Given the description of an element on the screen output the (x, y) to click on. 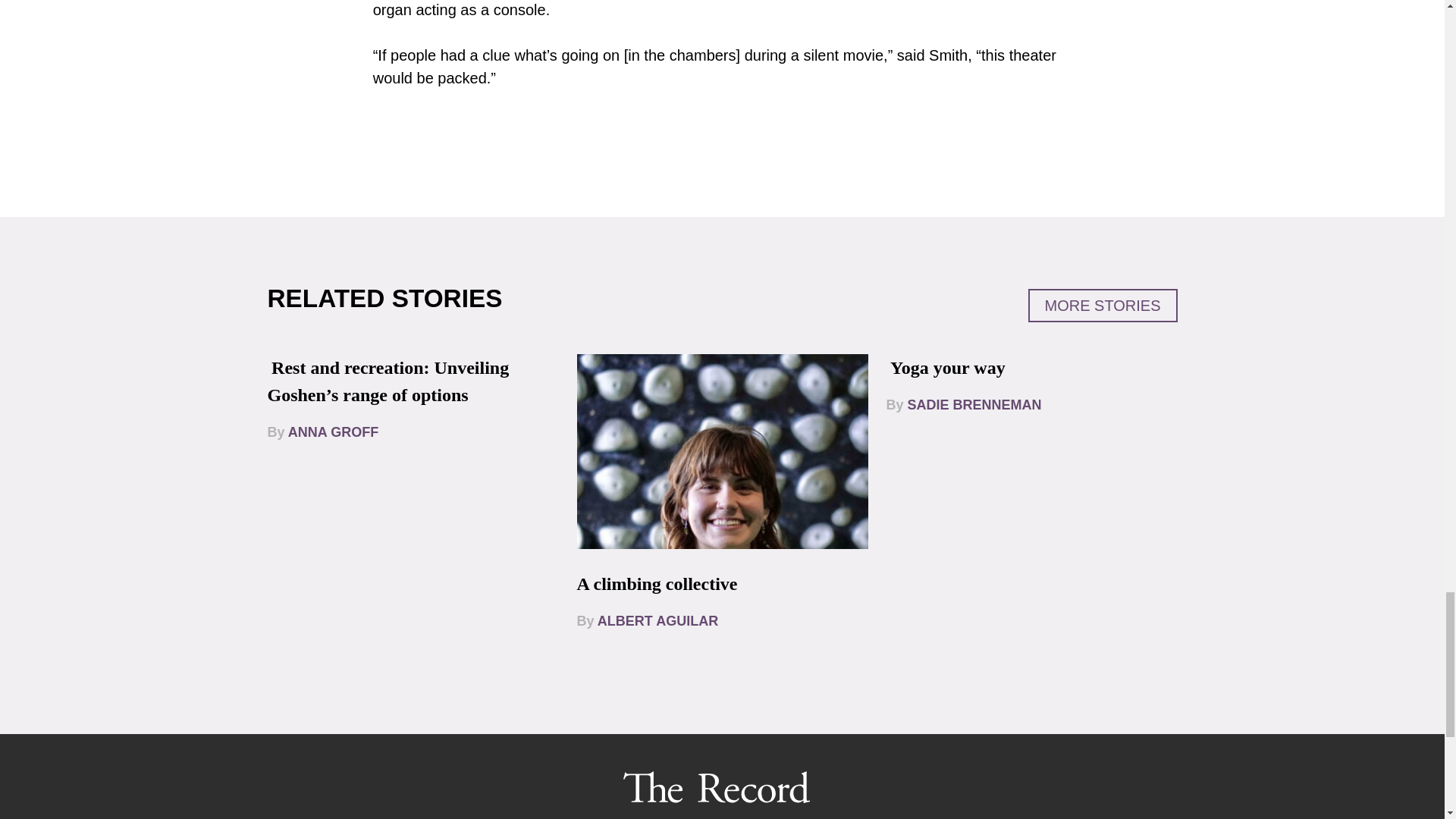
SADIE BRENNEMAN (974, 404)
ALBERT AGUILAR (656, 620)
Yoga your way (947, 367)
A climbing collective (656, 583)
ANNA GROFF (333, 432)
MORE STORIES (1102, 305)
